Given the description of an element on the screen output the (x, y) to click on. 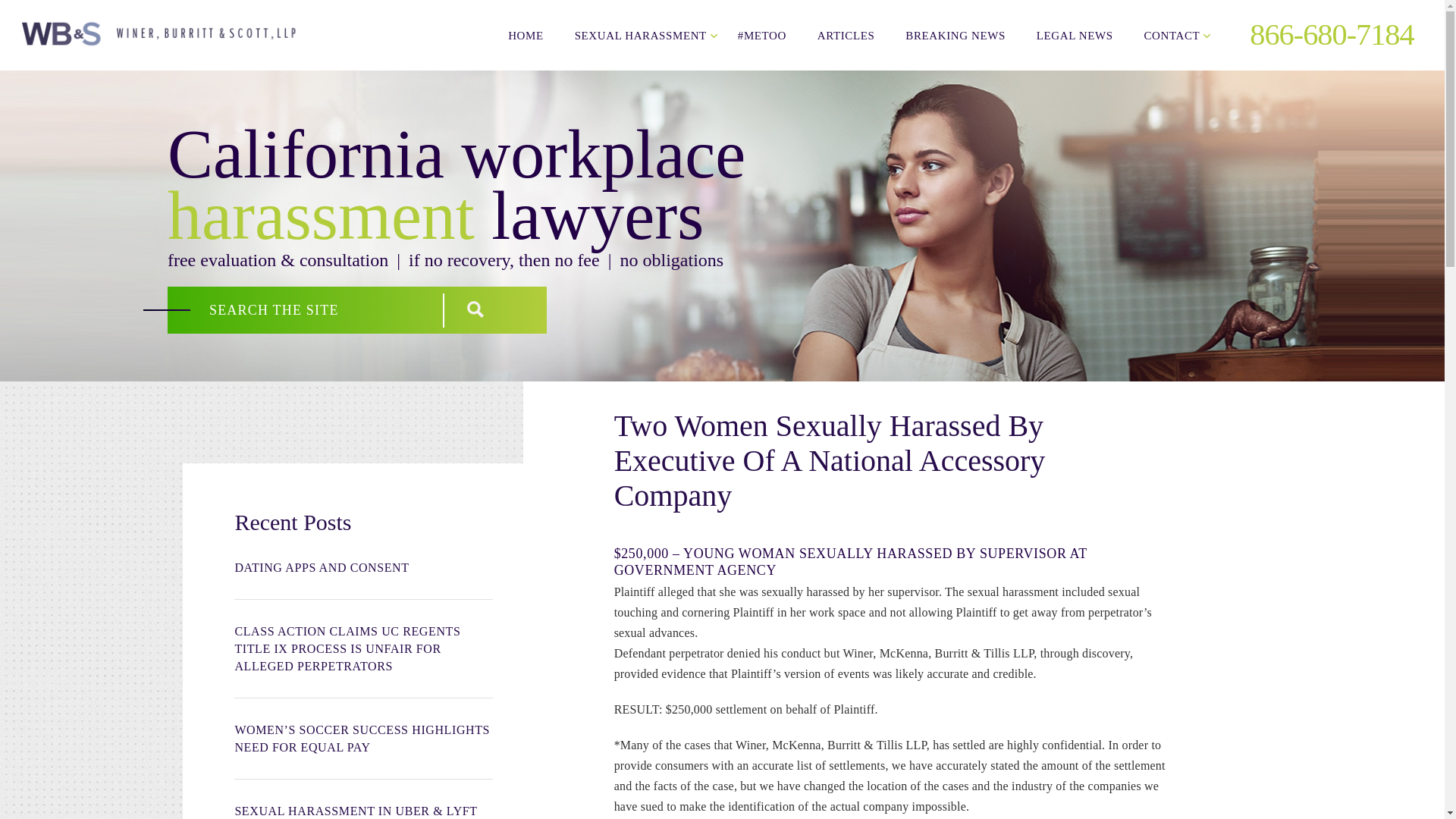
BREAKING NEWS (955, 34)
DATING APPS AND CONSENT (363, 567)
Search for: (310, 309)
LEGAL NEWS (1074, 34)
SEXUAL HARASSMENT (640, 34)
866-680-7184 (1320, 34)
